Given the description of an element on the screen output the (x, y) to click on. 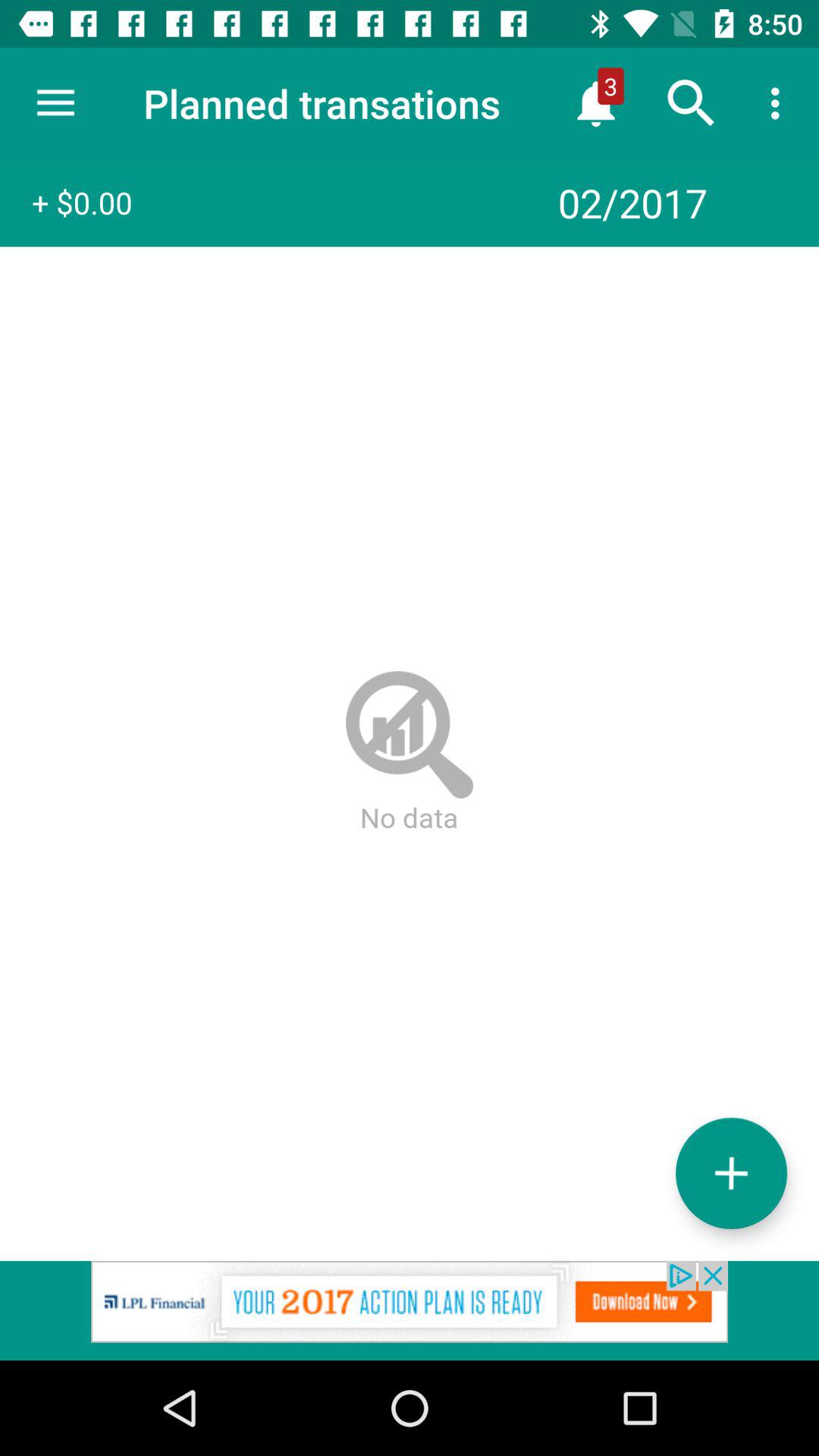
add transaction (731, 1173)
